Given the description of an element on the screen output the (x, y) to click on. 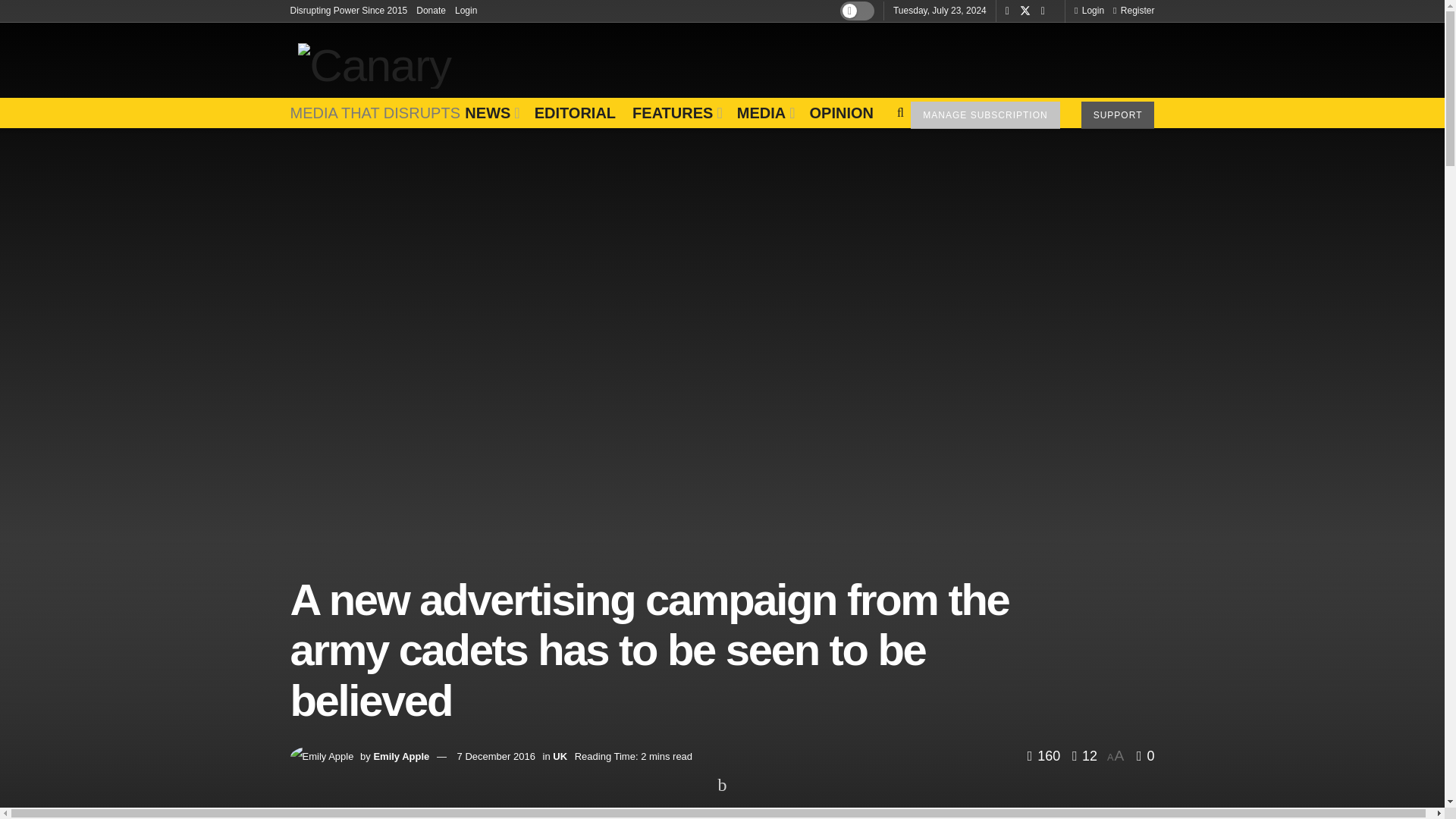
EDITORIAL (574, 112)
NEWS (490, 112)
SUPPORT (1117, 114)
Login (465, 11)
MANAGE SUBSCRIPTION (985, 114)
FEATURES (675, 112)
Donate (430, 11)
MEDIA (764, 112)
Advertisement (878, 56)
OPINION (840, 112)
Login (1088, 11)
Register (1133, 11)
Disrupting Power Since 2015 (348, 11)
